Given the description of an element on the screen output the (x, y) to click on. 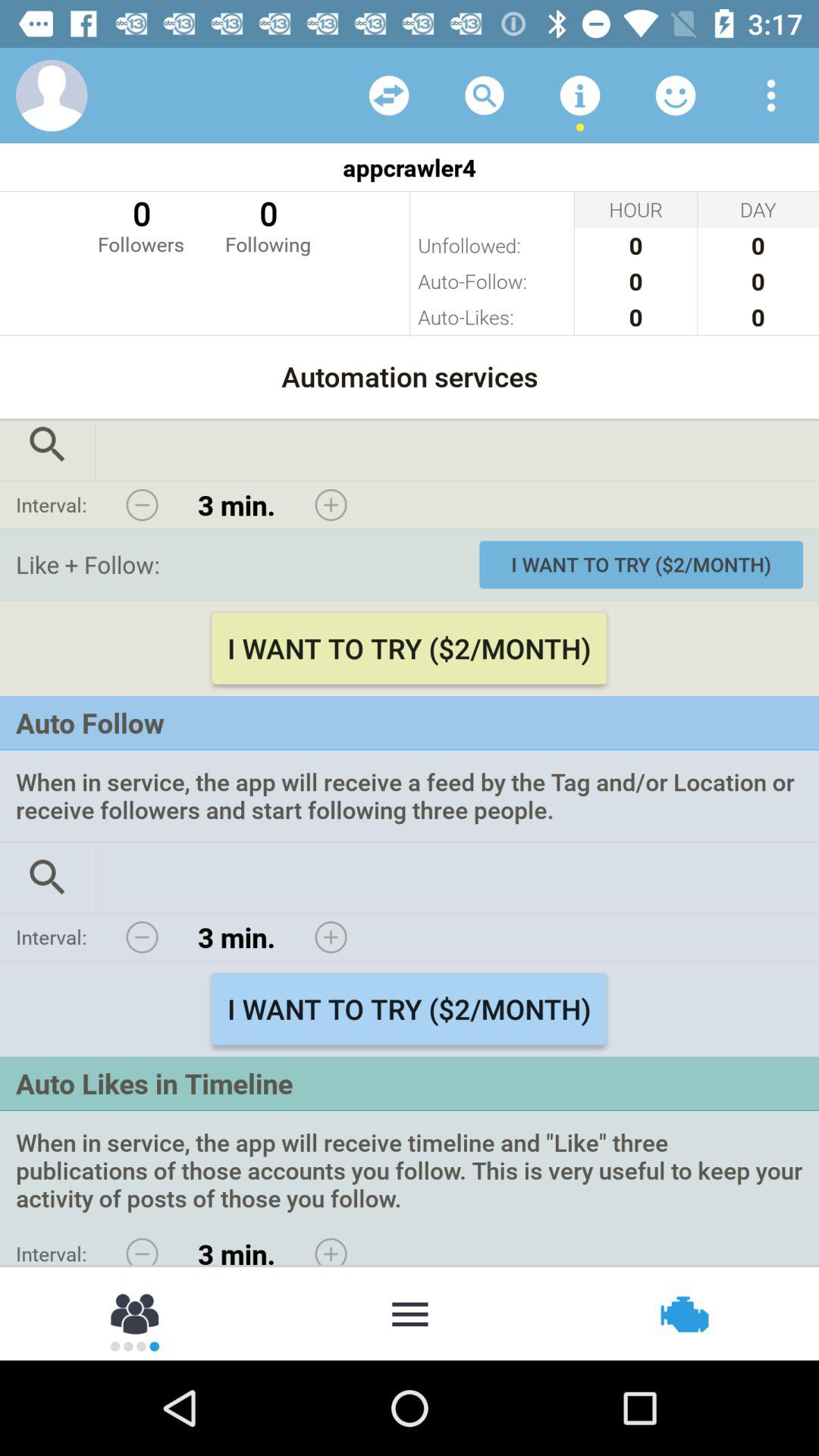
a plus sign button that increases the time (330, 1247)
